Given the description of an element on the screen output the (x, y) to click on. 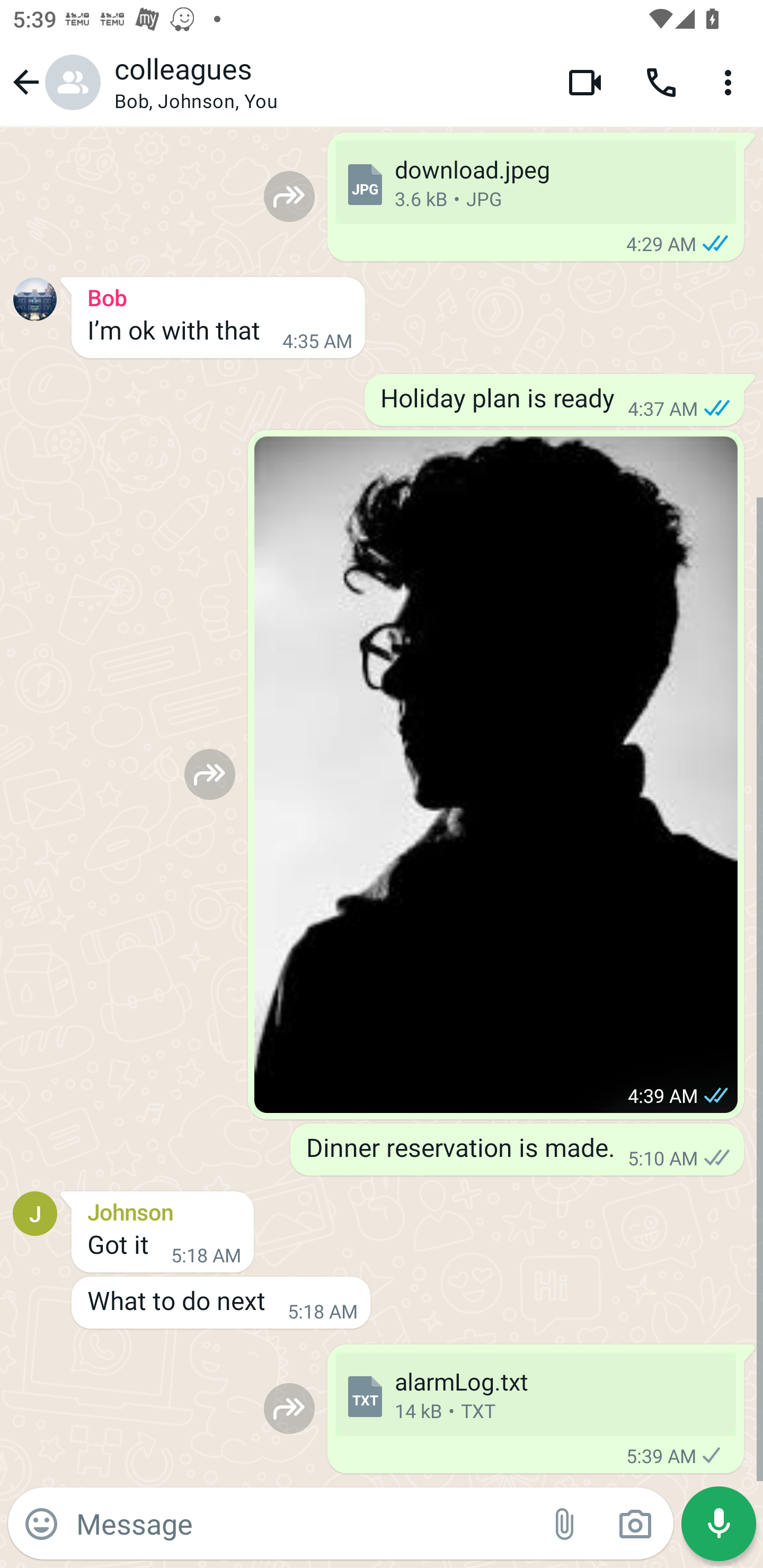
colleagues Bob, Johnson, You (327, 82)
Navigate up (54, 82)
Video call (585, 81)
Voice call (661, 81)
More options (731, 81)
download.jpeg 3.6 kB • JPG (535, 181)
Forward to… (288, 196)
Profile picture for Bob (34, 299)
Bob (217, 294)
View photo (495, 774)
Forward to… (209, 774)
Profile picture for Johnson J (34, 1213)
Johnson (162, 1208)
alarmLog.txt 14 kB • TXT (535, 1393)
Forward to… (288, 1408)
Emoji (41, 1523)
Attach (565, 1523)
Camera (634, 1523)
Message (303, 1523)
